Given the description of an element on the screen output the (x, y) to click on. 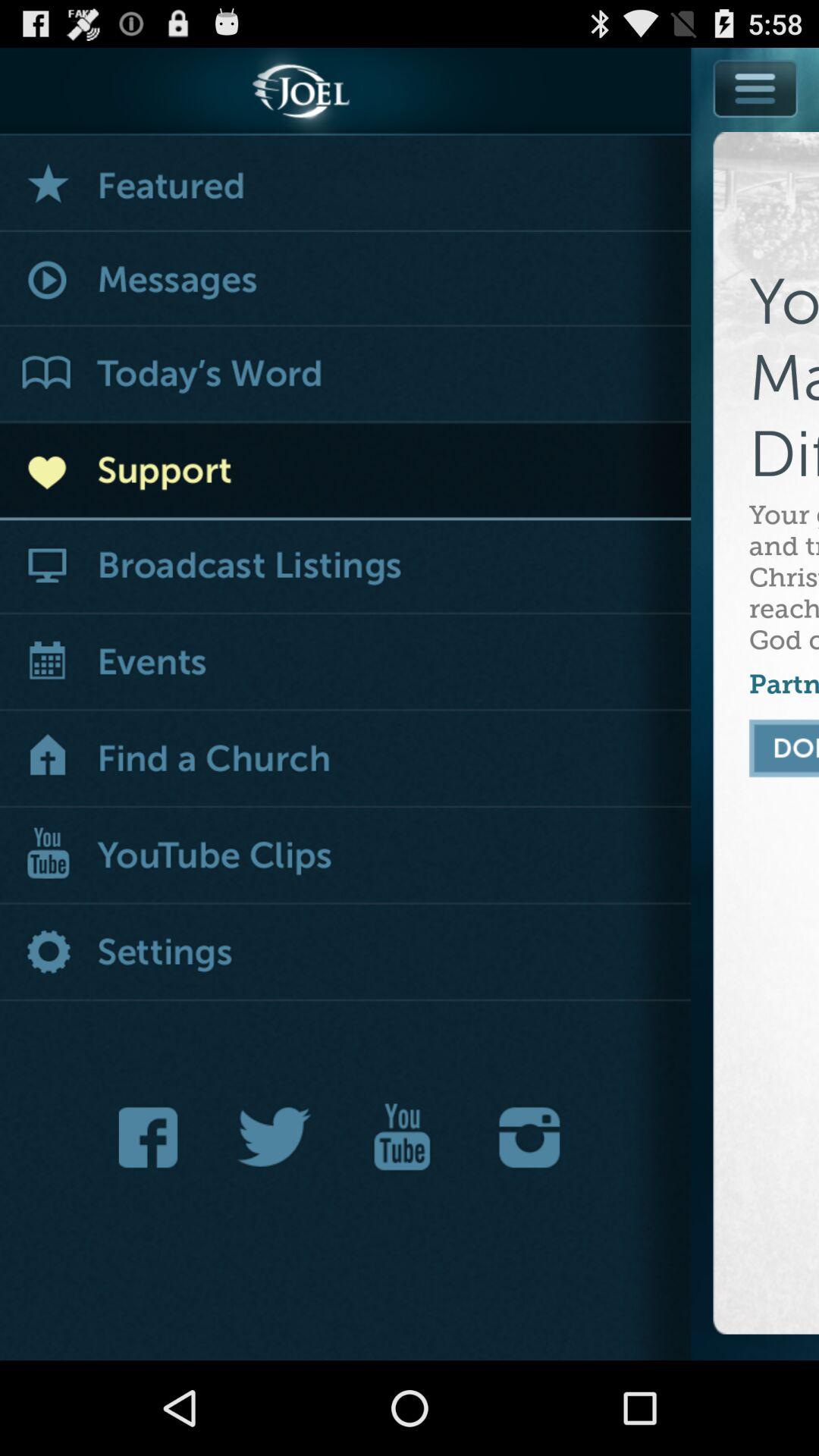
view featured messages (345, 183)
